Given the description of an element on the screen output the (x, y) to click on. 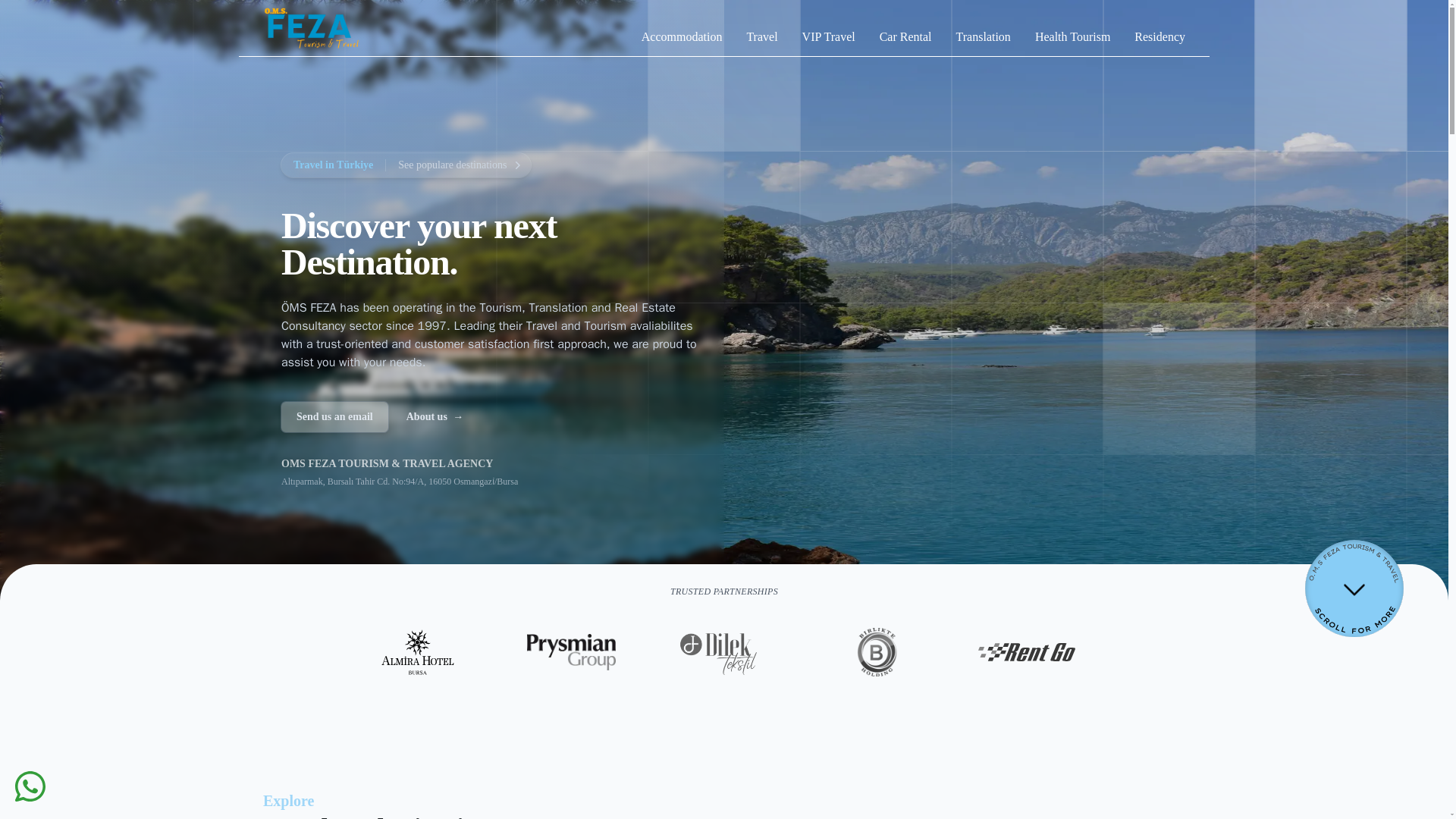
Car Rental (905, 36)
Accommodation (682, 36)
Travel (761, 36)
See populare destinations (457, 165)
VIP Travel (829, 36)
Residency (1159, 36)
Health Tourism (1072, 36)
Translation (983, 36)
Send us an email (334, 417)
